Given the description of an element on the screen output the (x, y) to click on. 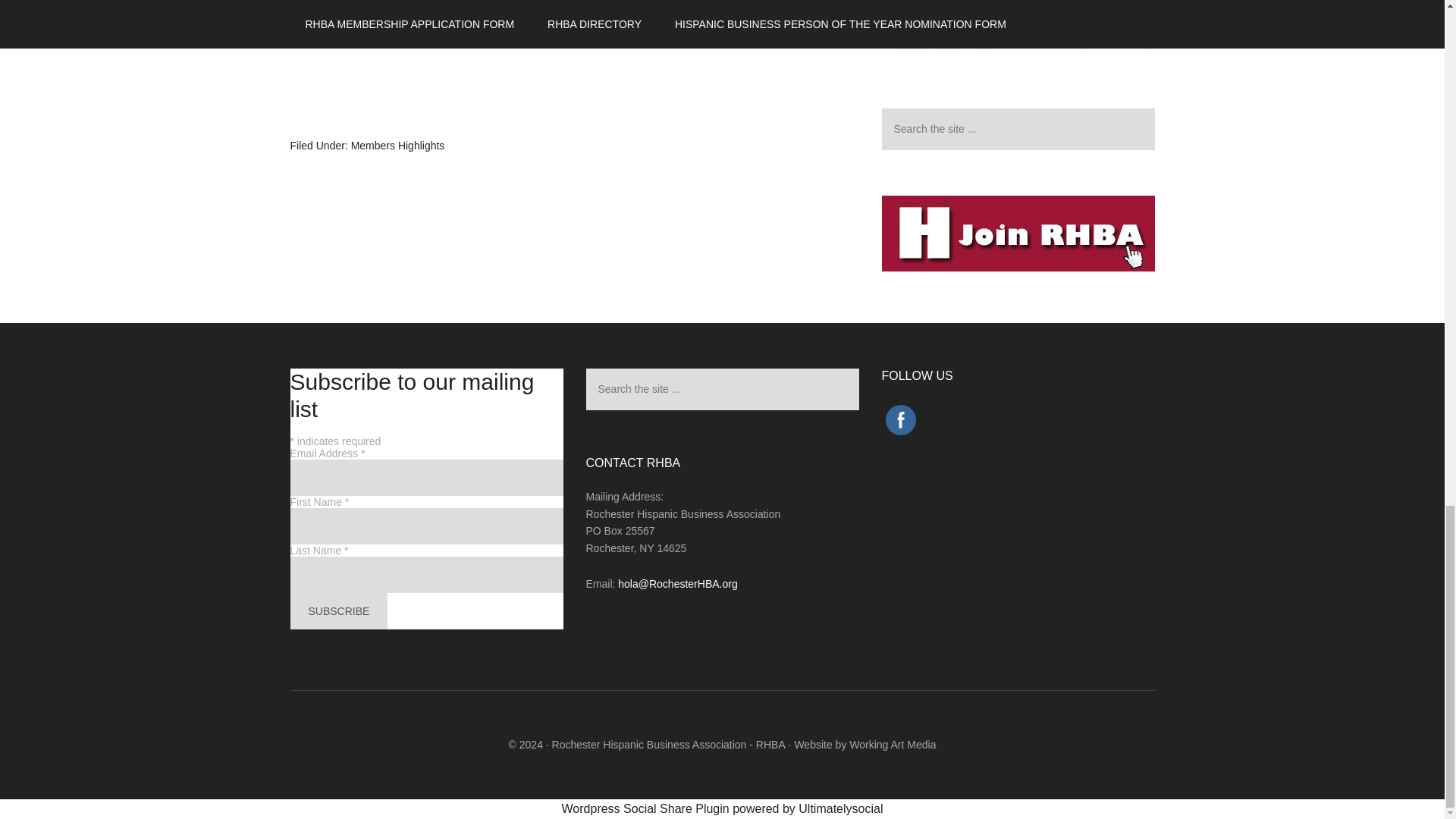
Facebook (899, 419)
Subscribe (338, 610)
Working Art Media (892, 744)
